Given the description of an element on the screen output the (x, y) to click on. 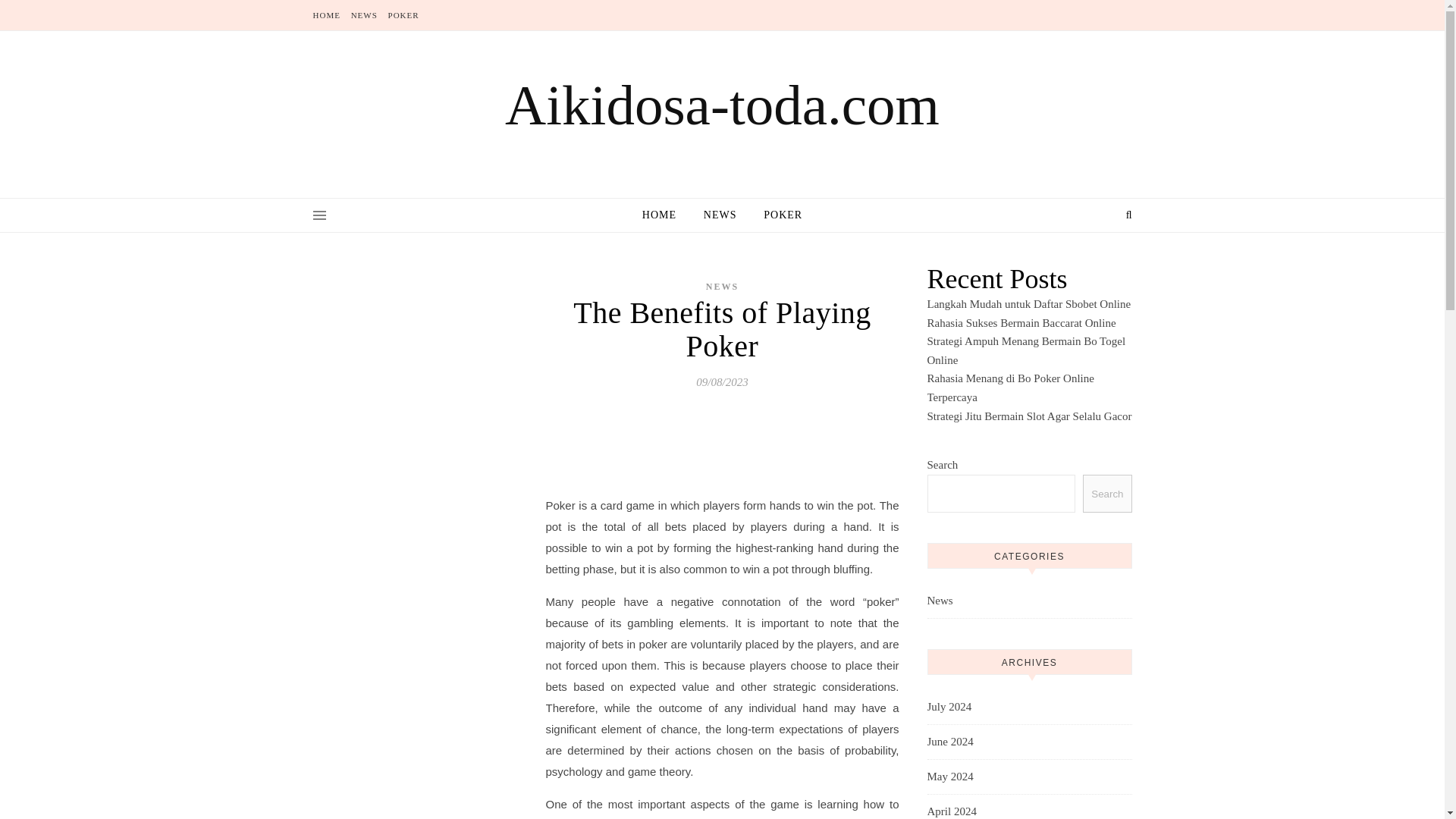
April 2024 (950, 806)
July 2024 (948, 706)
NEWS (364, 15)
Strategi Jitu Bermain Slot Agar Selalu Gacor (1028, 416)
Strategi Ampuh Menang Bermain Bo Togel Online (1025, 350)
HOME (665, 215)
Rahasia Sukses Bermain Baccarat Online (1020, 322)
Langkah Mudah untuk Daftar Sbobet Online (1028, 304)
Rahasia Menang di Bo Poker Online Terpercaya (1009, 387)
May 2024 (949, 776)
NEWS (720, 215)
NEWS (722, 286)
POKER (776, 215)
Search (1107, 494)
Aikidosa-toda.com (722, 104)
